Given the description of an element on the screen output the (x, y) to click on. 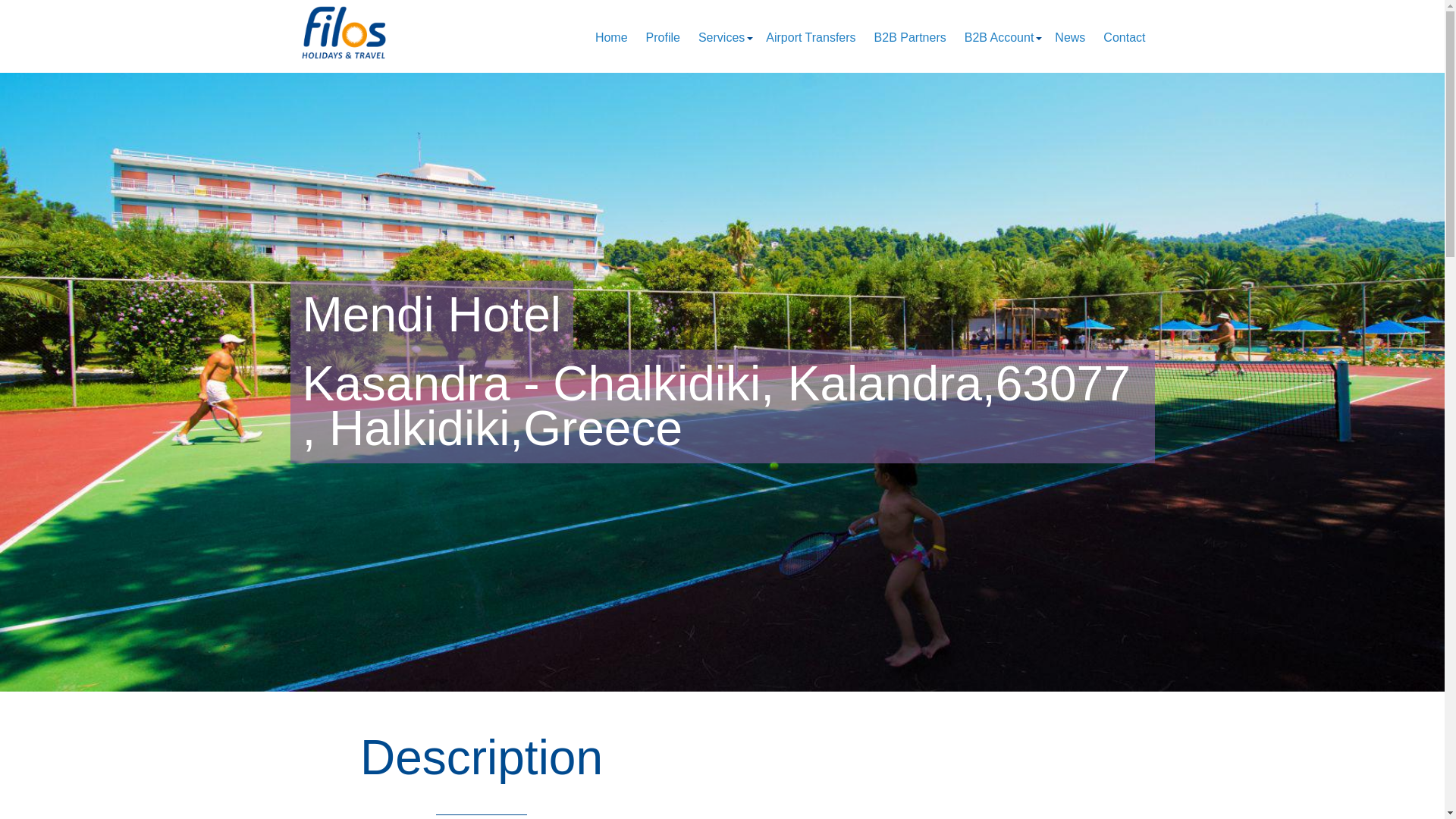
Profile (662, 37)
Contact (1123, 37)
B2B Account (998, 37)
Airport Transfers (810, 37)
Services (721, 37)
News (1069, 37)
Home (611, 37)
B2B Partners (910, 37)
